Given the description of an element on the screen output the (x, y) to click on. 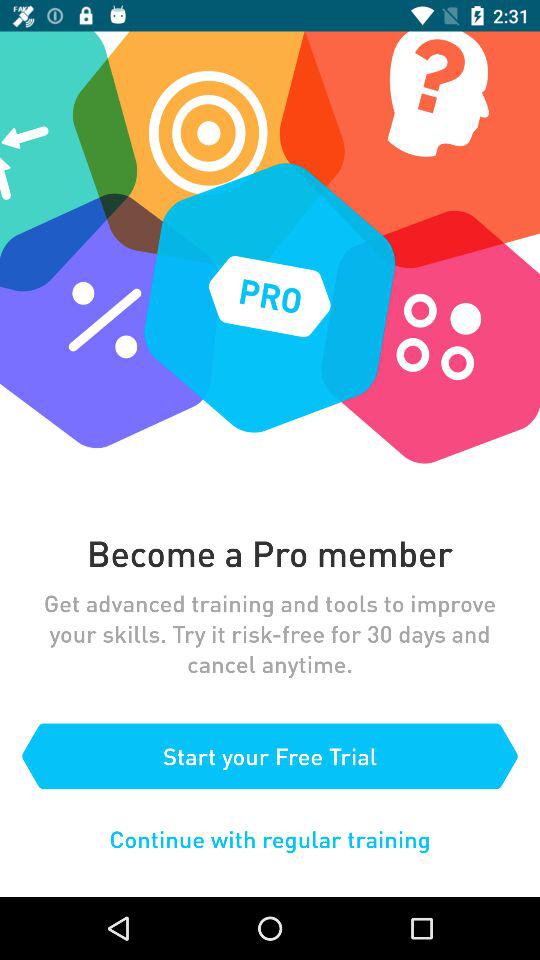
select icon below the start your free item (270, 838)
